Given the description of an element on the screen output the (x, y) to click on. 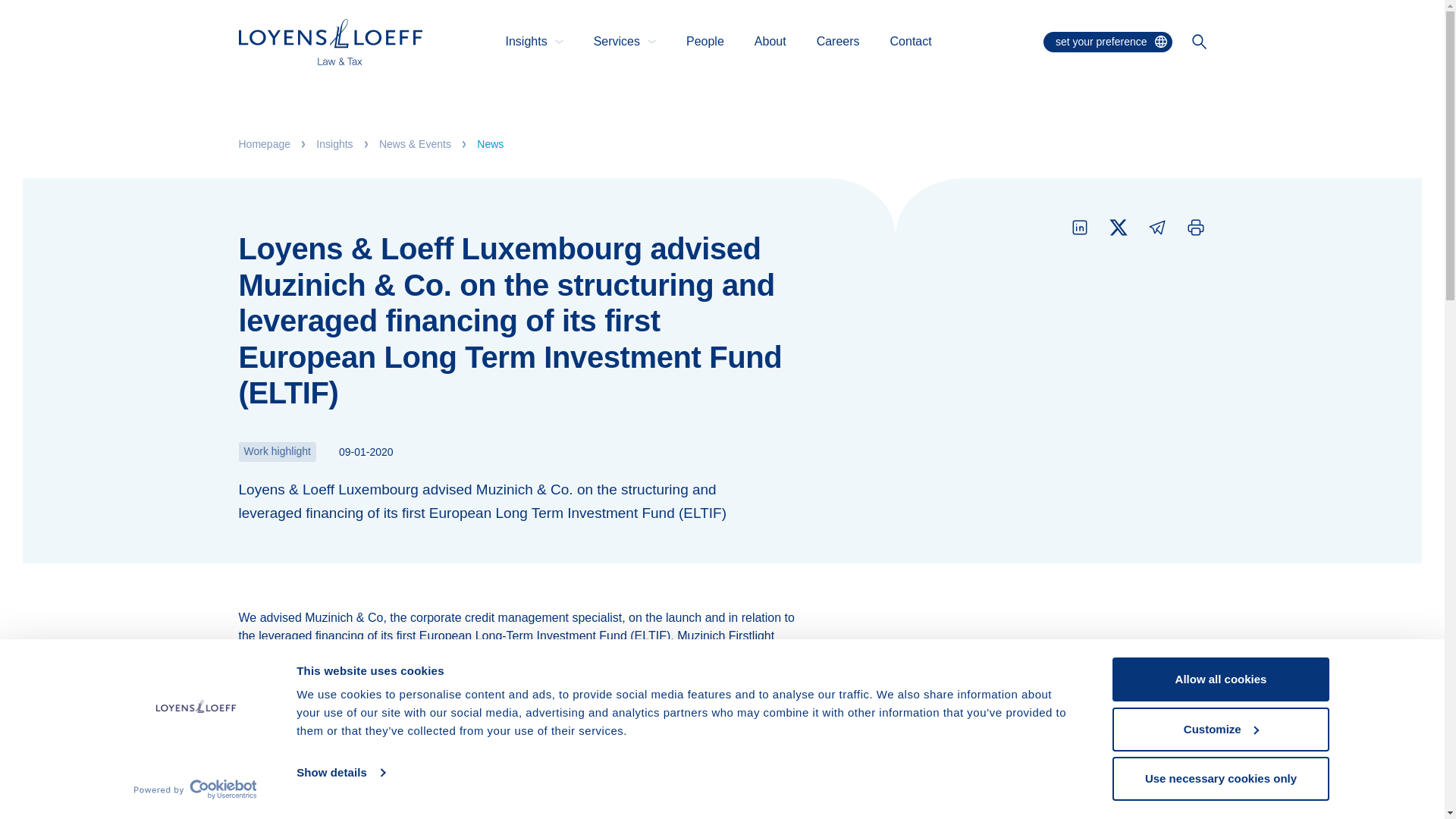
Careers (838, 41)
People (704, 41)
About (770, 41)
Contact (910, 41)
Show details (340, 772)
